Given the description of an element on the screen output the (x, y) to click on. 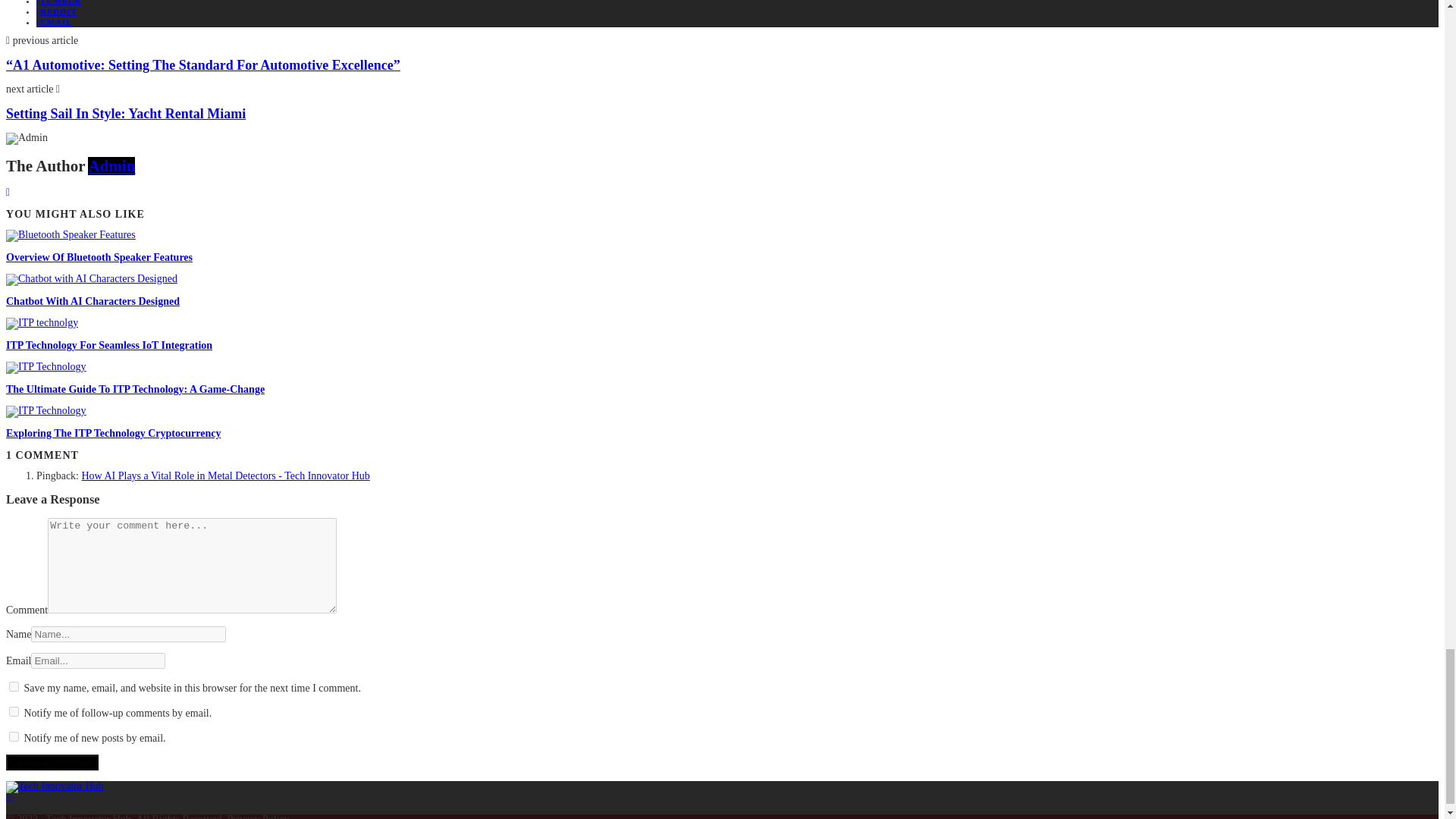
Leave a comment (52, 762)
yes (13, 686)
subscribe (13, 711)
subscribe (13, 737)
